Given the description of an element on the screen output the (x, y) to click on. 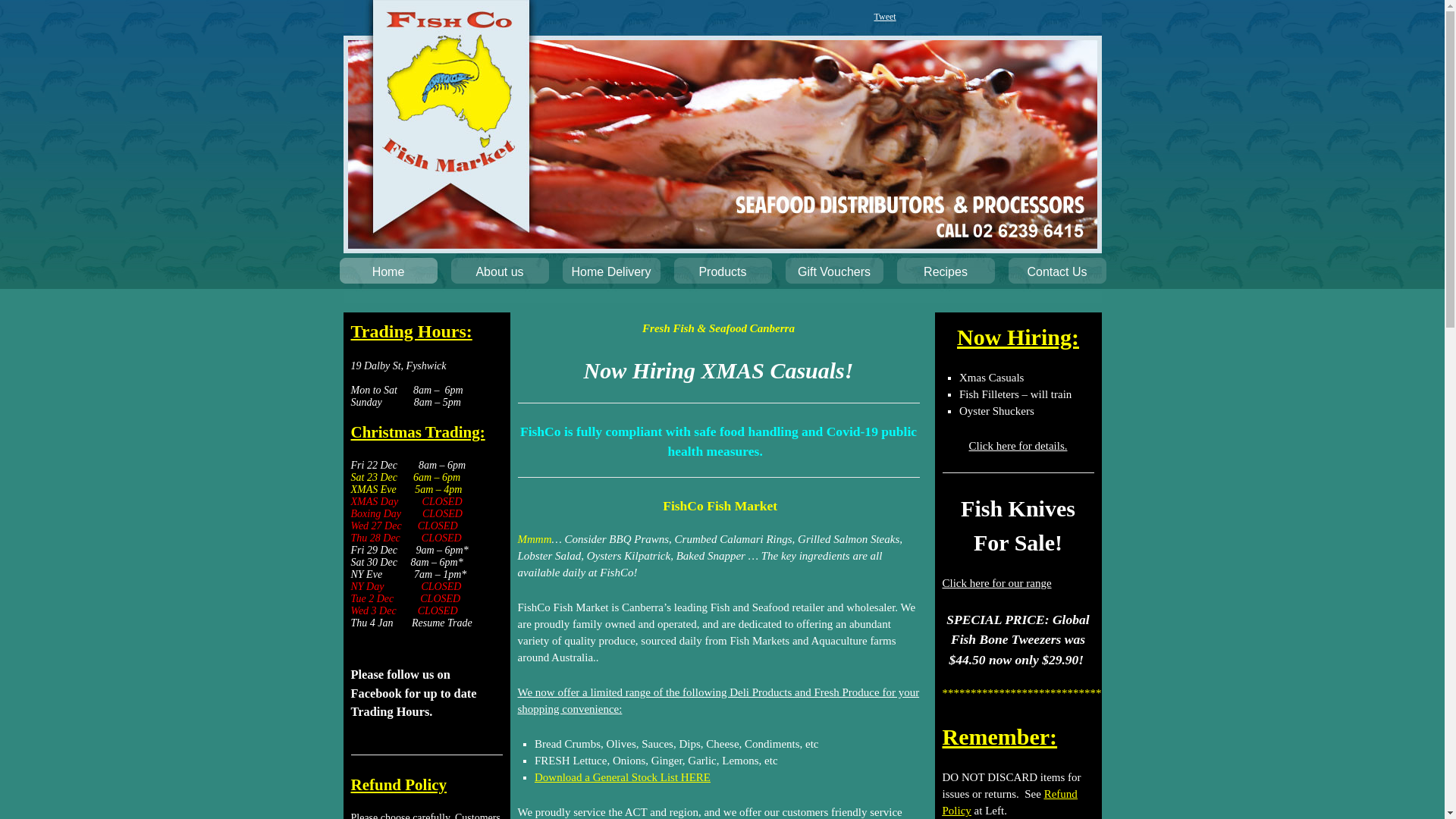
Gift Vouchers Element type: text (833, 274)
Download a General Stock List HERE Element type: text (622, 777)
Click here for our range Element type: text (996, 583)
About us Element type: text (499, 274)
Click here for details. Element type: text (1018, 445)
Recipes Element type: text (945, 274)
Home Element type: text (387, 274)
Home Delivery Element type: text (610, 274)
Tweet Element type: text (884, 16)
Contact Us Element type: text (1056, 274)
Products Element type: text (722, 274)
